Given the description of an element on the screen output the (x, y) to click on. 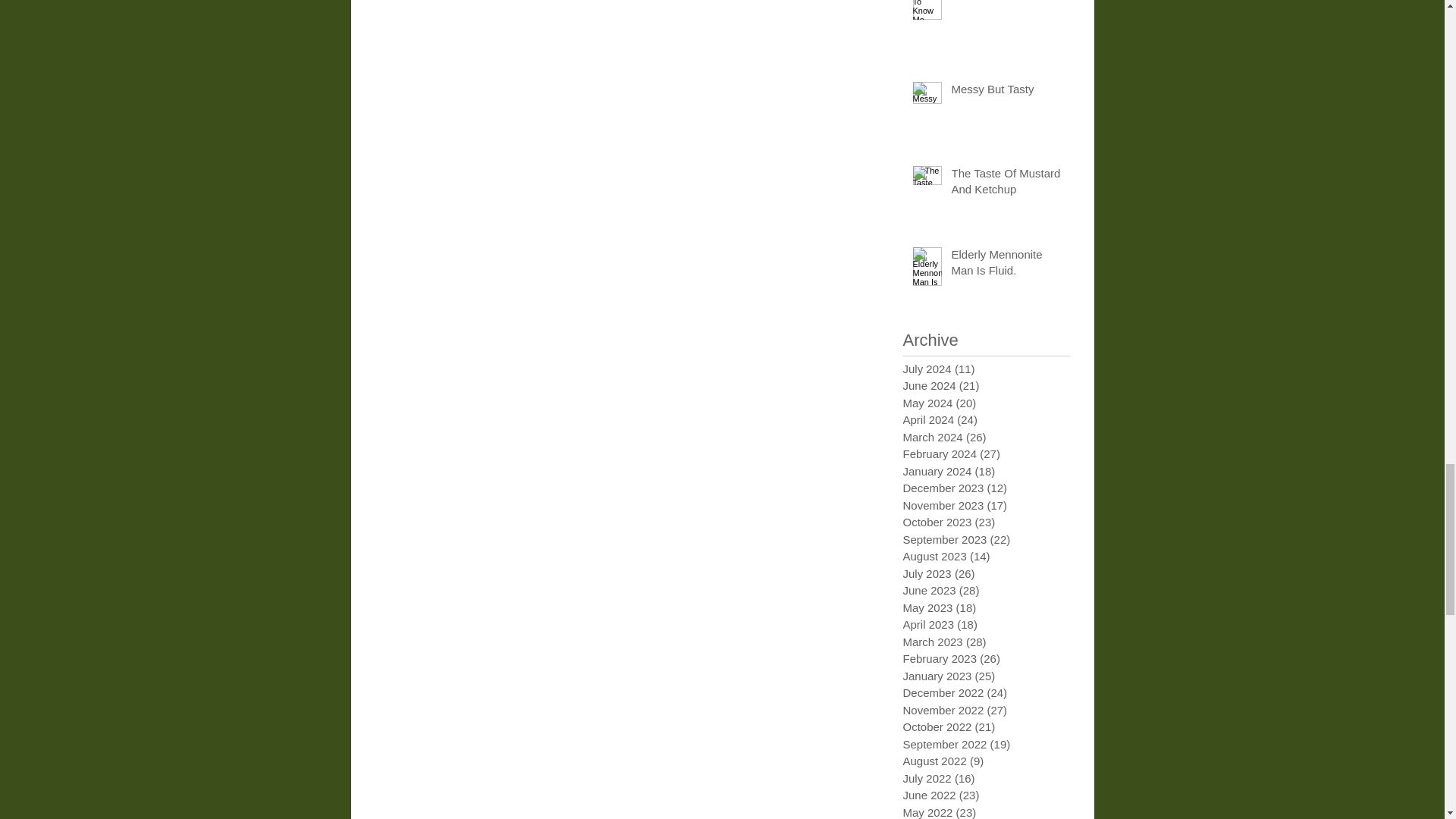
The Taste Of Mustard And Ketchup (1004, 184)
Elderly Mennonite Man Is Fluid. (1004, 265)
Messy But Tasty (1004, 92)
